Given the description of an element on the screen output the (x, y) to click on. 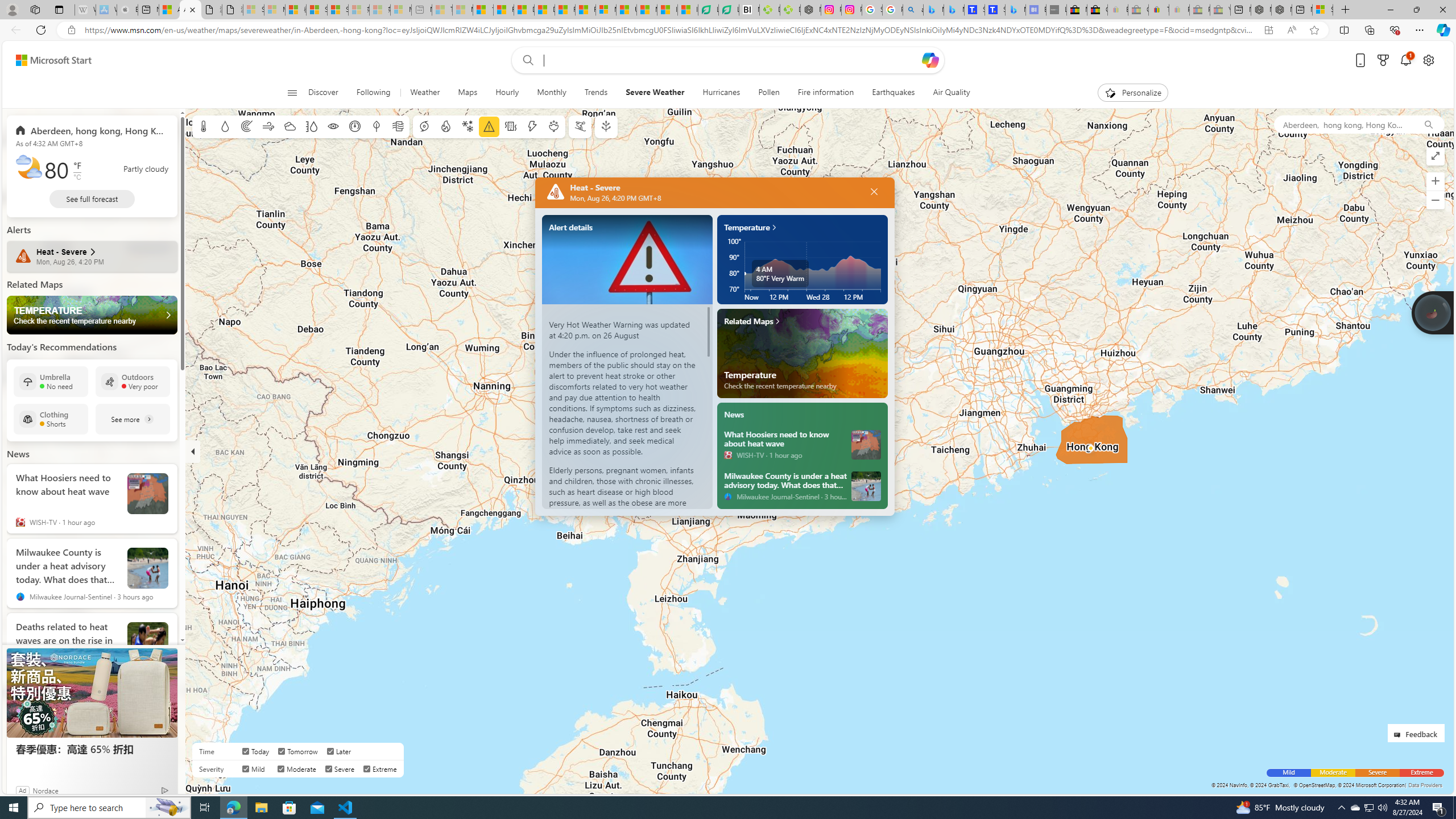
Nvidia va a poner a prueba la paciencia de los inversores (748, 9)
Zoom in (1435, 180)
Winter weather (467, 126)
Web search (526, 60)
Nordace - Nordace Edin Collection (809, 9)
Buy iPad - Apple - Sleeping (127, 9)
Visibility (333, 126)
Join us in planting real trees to help our planet! (1431, 312)
Microsoft Bing Travel - Shangri-La Hotel Bangkok (1015, 9)
